Given the description of an element on the screen output the (x, y) to click on. 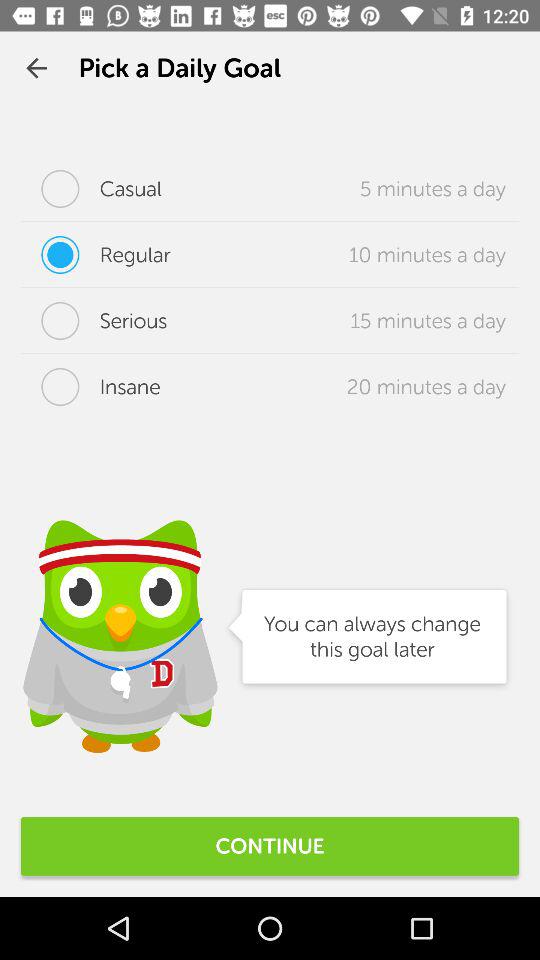
open the icon to the left of 20 minutes a item (90, 387)
